Given the description of an element on the screen output the (x, y) to click on. 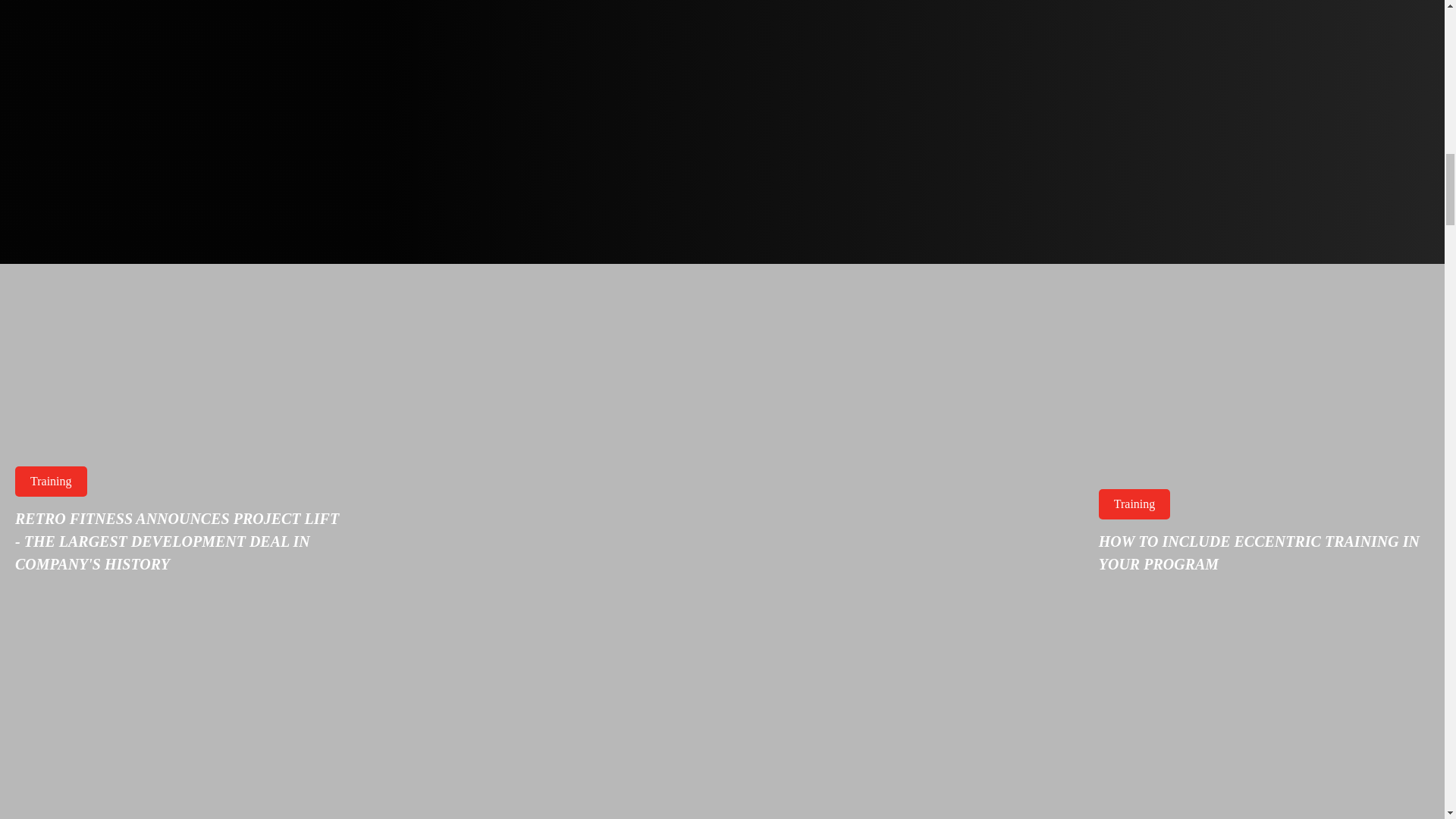
Chiseled Magazine Final Cover (1025, 52)
Will Crossfit Get Me Ripped (180, 705)
